Given the description of an element on the screen output the (x, y) to click on. 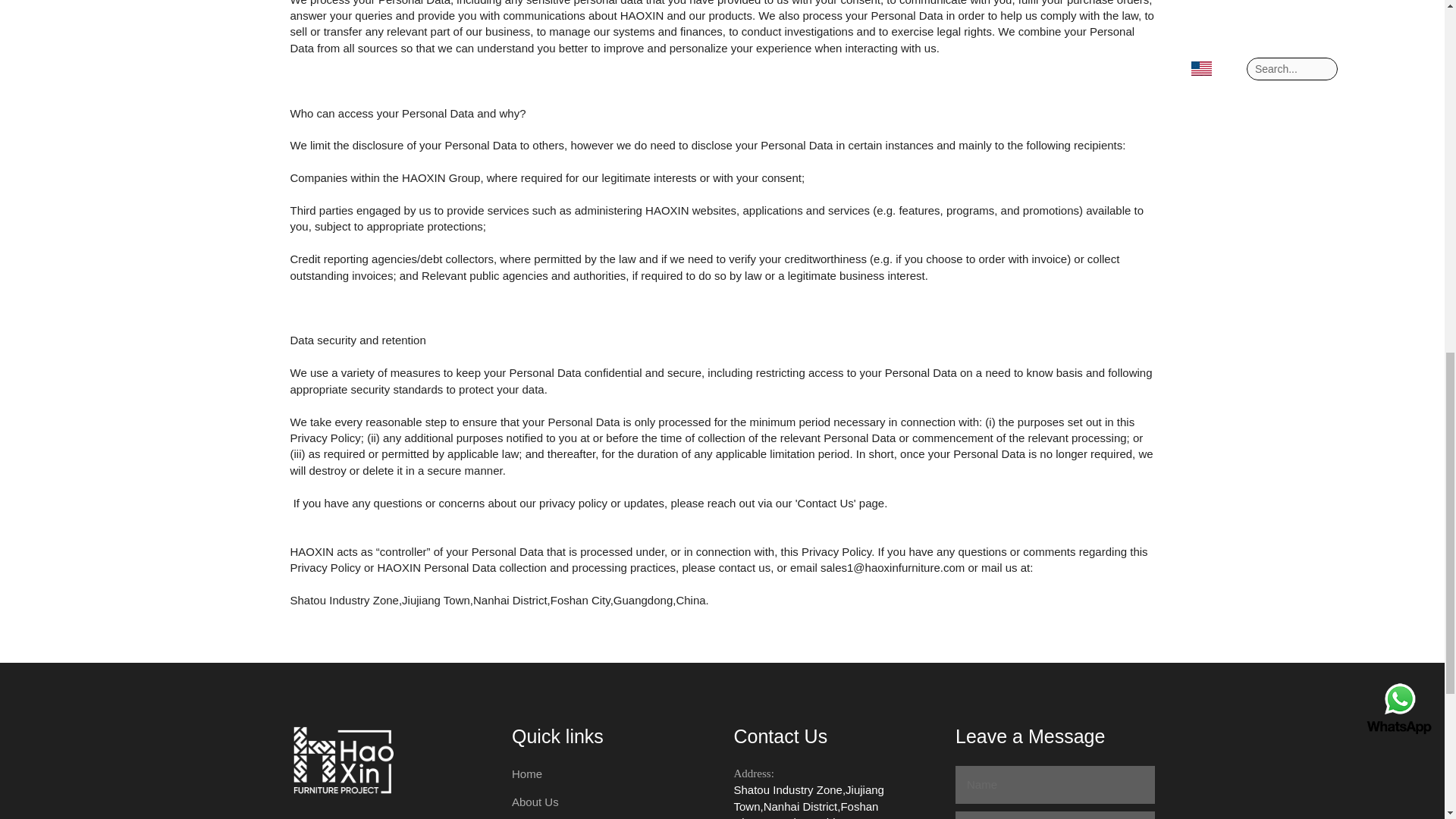
Home (526, 773)
About Us (535, 801)
